Given the description of an element on the screen output the (x, y) to click on. 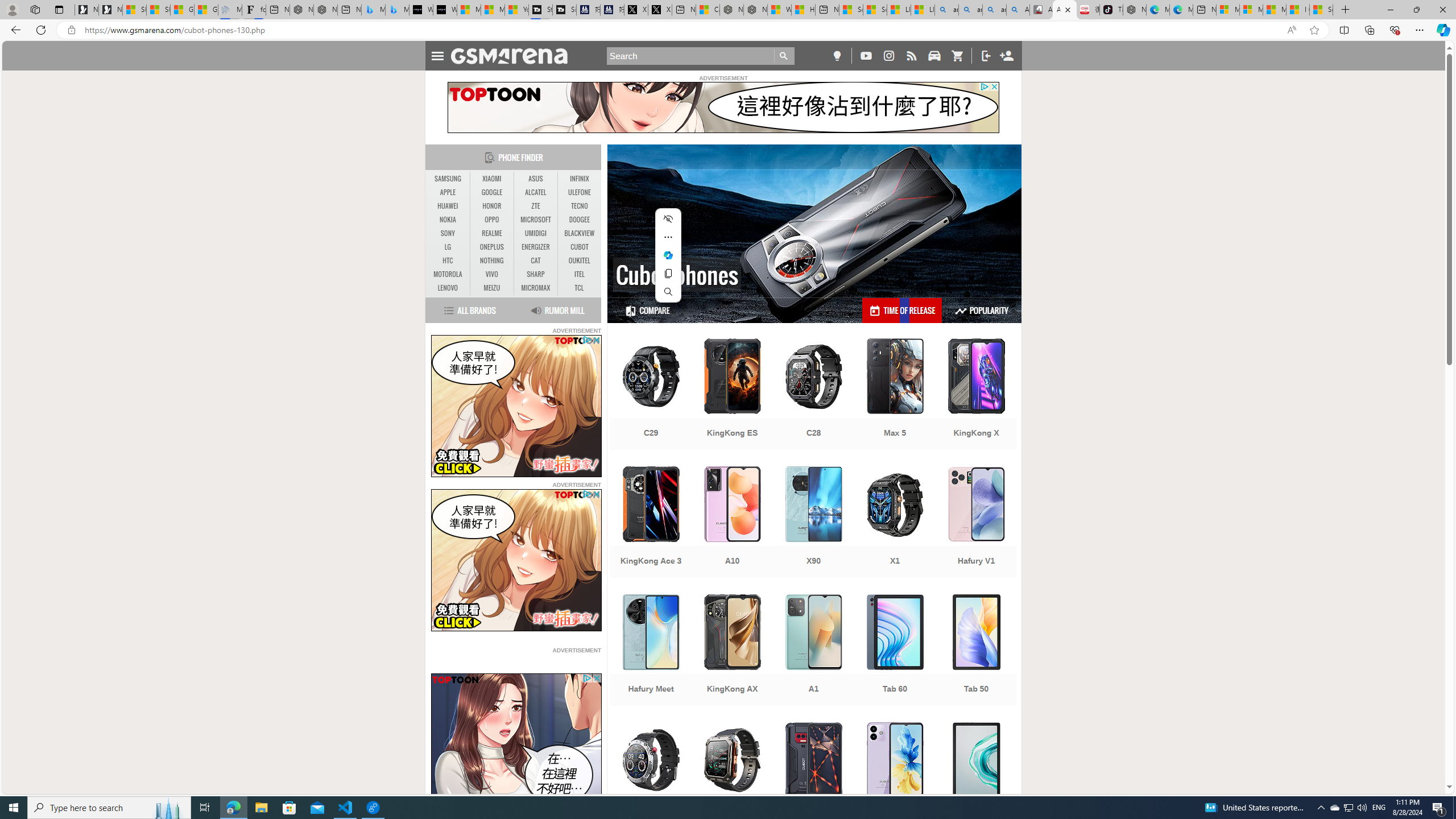
All Cubot phones (1064, 9)
BLACKVIEW (579, 233)
Mini menu on text selection (668, 255)
TECNO (579, 205)
A1 (813, 651)
ALCATEL (535, 192)
HTC (448, 260)
To get missing image descriptions, open the context menu. (515, 744)
